Given the description of an element on the screen output the (x, y) to click on. 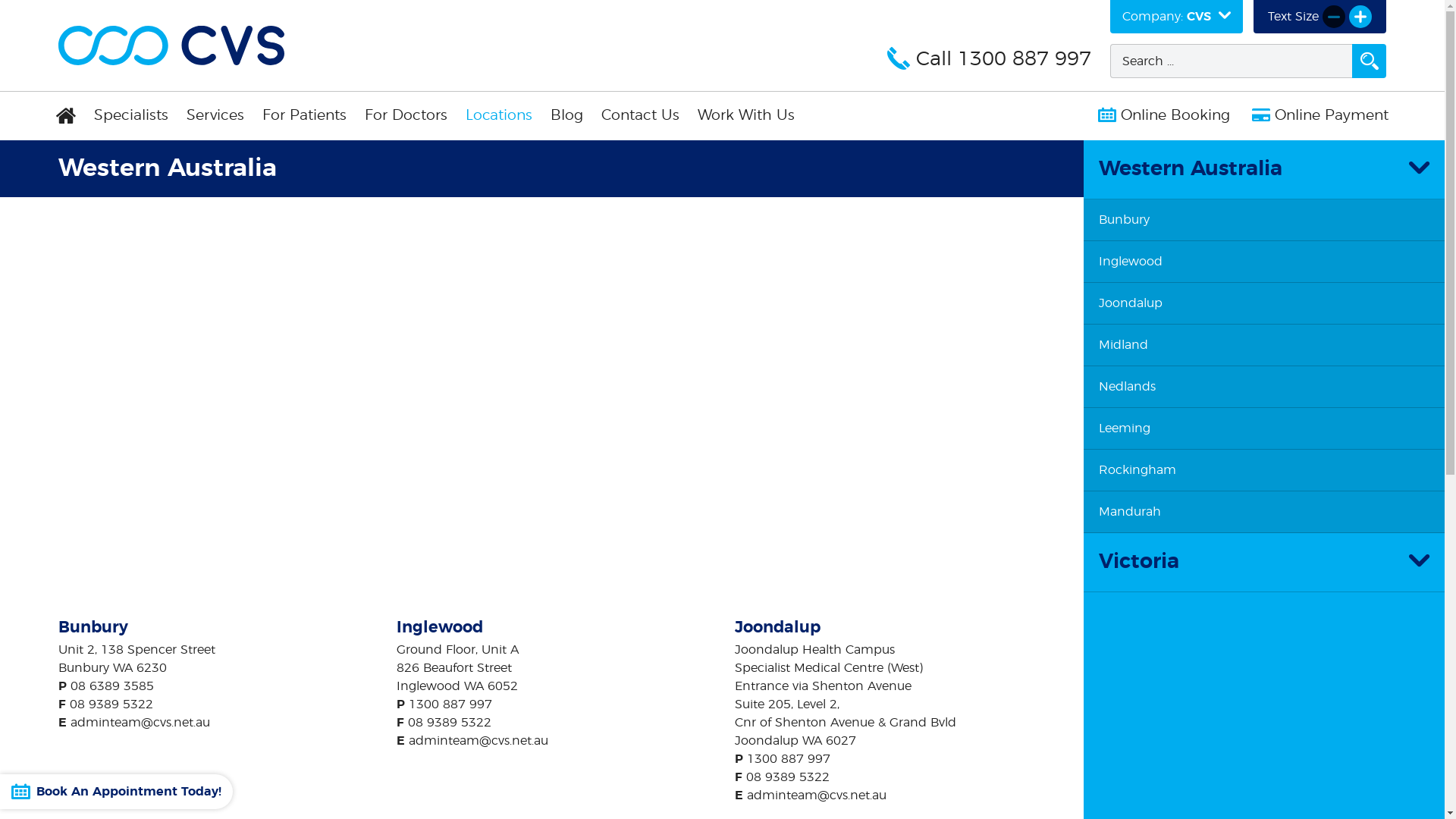
Bunbury Element type: text (1263, 220)
Specialists Element type: text (130, 115)
Inglewood Element type: text (1263, 261)
Call 1300 887 997 Element type: text (989, 59)
Book An Appointment Today! Element type: text (116, 791)
Work With Us Element type: text (745, 115)
Home Element type: text (65, 115)
Rockingham Element type: text (1263, 470)
Nedlands Element type: text (1263, 386)
Blog Element type: text (566, 115)
For Patients Element type: text (304, 115)
Services Element type: text (215, 115)
Online Payment Element type: text (1319, 115)
Mandurah Element type: text (1263, 512)
Locations Element type: text (498, 115)
Leeming Element type: text (1263, 428)
Online Booking Element type: text (1163, 115)
Contact Us Element type: text (640, 115)
For Doctors Element type: text (405, 115)
Joondalup Element type: text (1263, 303)
Midland Element type: text (1263, 345)
